Given the description of an element on the screen output the (x, y) to click on. 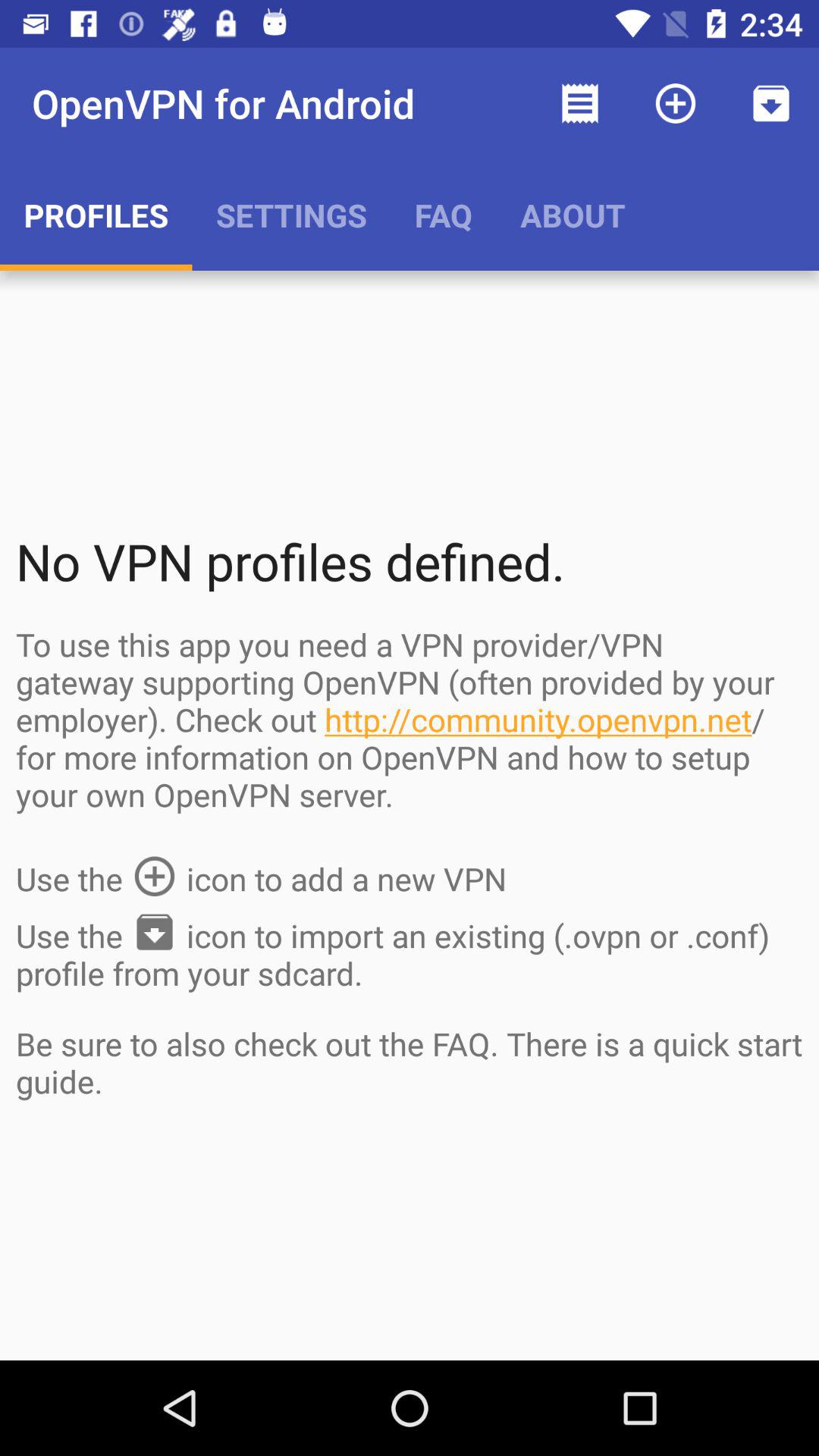
go to download icon (771, 103)
select the settings option beside profile option (291, 214)
select the faq option which is to the right side of settings (443, 214)
click on the button which is to the right of openvpn for android (580, 103)
